Given the description of an element on the screen output the (x, y) to click on. 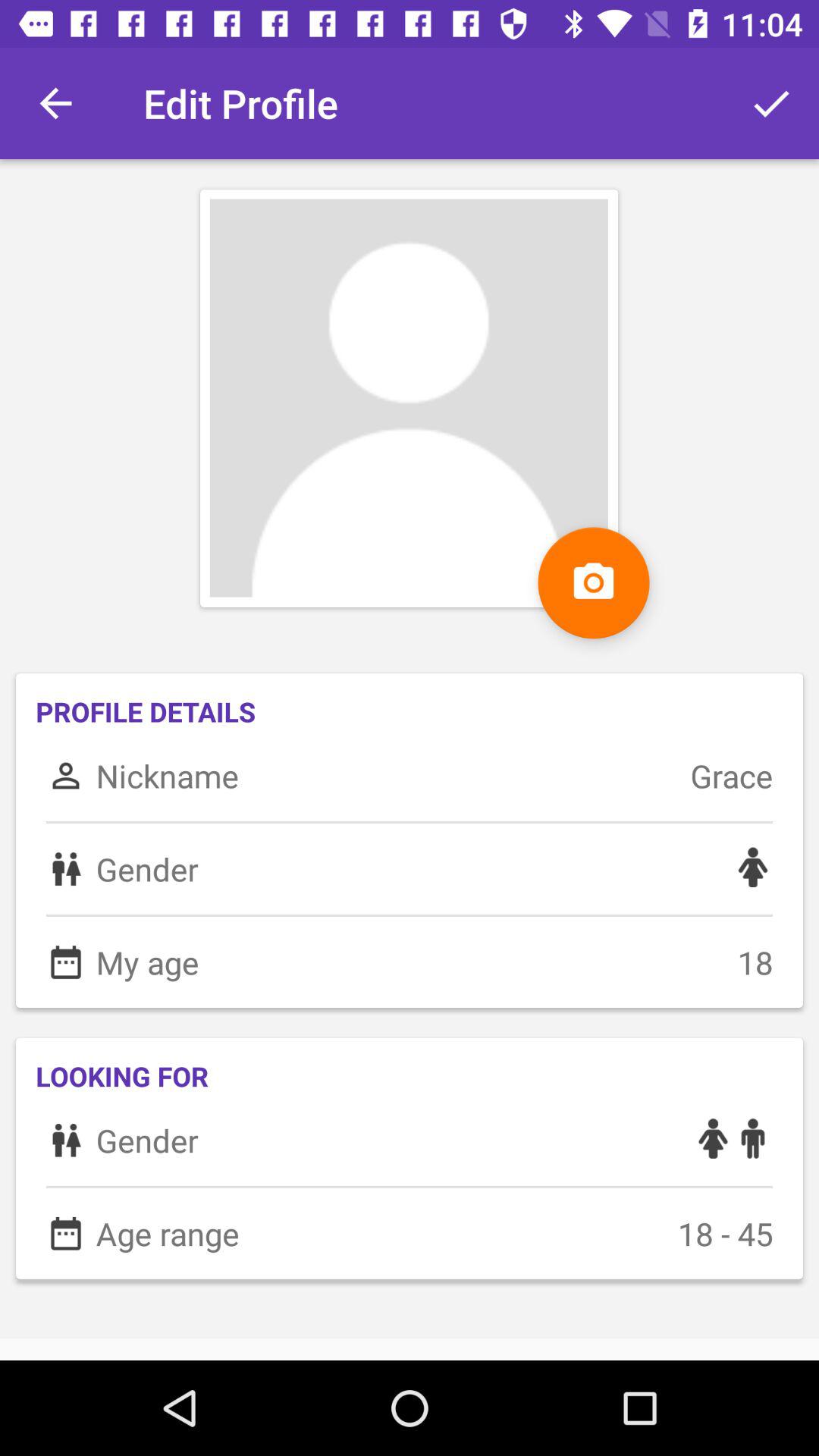
add a picture (593, 582)
